Given the description of an element on the screen output the (x, y) to click on. 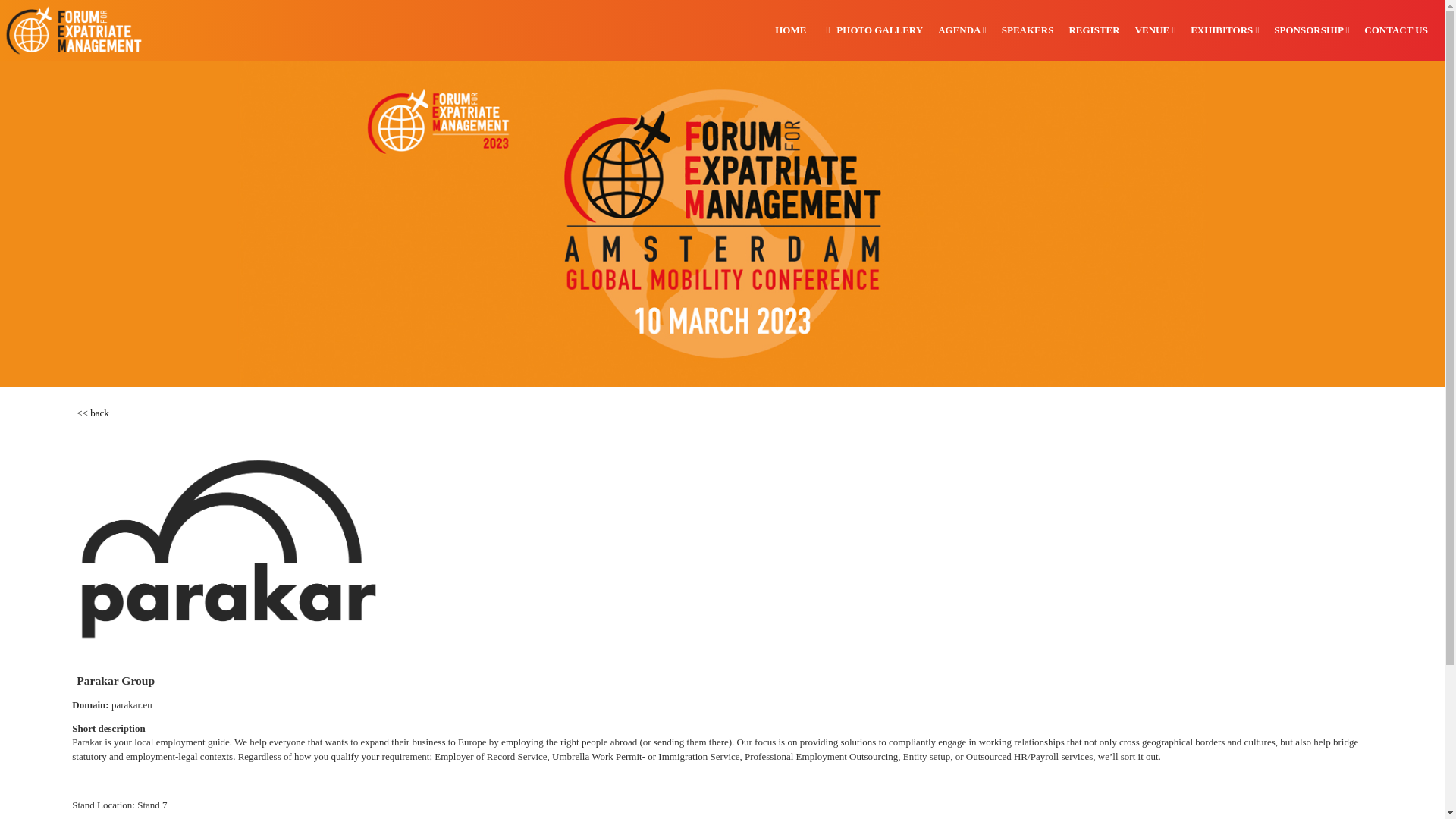
CONTACT US (1395, 30)
SPEAKERS (1027, 30)
AGENDA (962, 30)
REGISTER (1093, 30)
HOME (790, 30)
 PHOTO GALLERY (871, 30)
EXHIBITORS (1224, 30)
VENUE (1154, 30)
SPONSORSHIP (1311, 30)
